Given the description of an element on the screen output the (x, y) to click on. 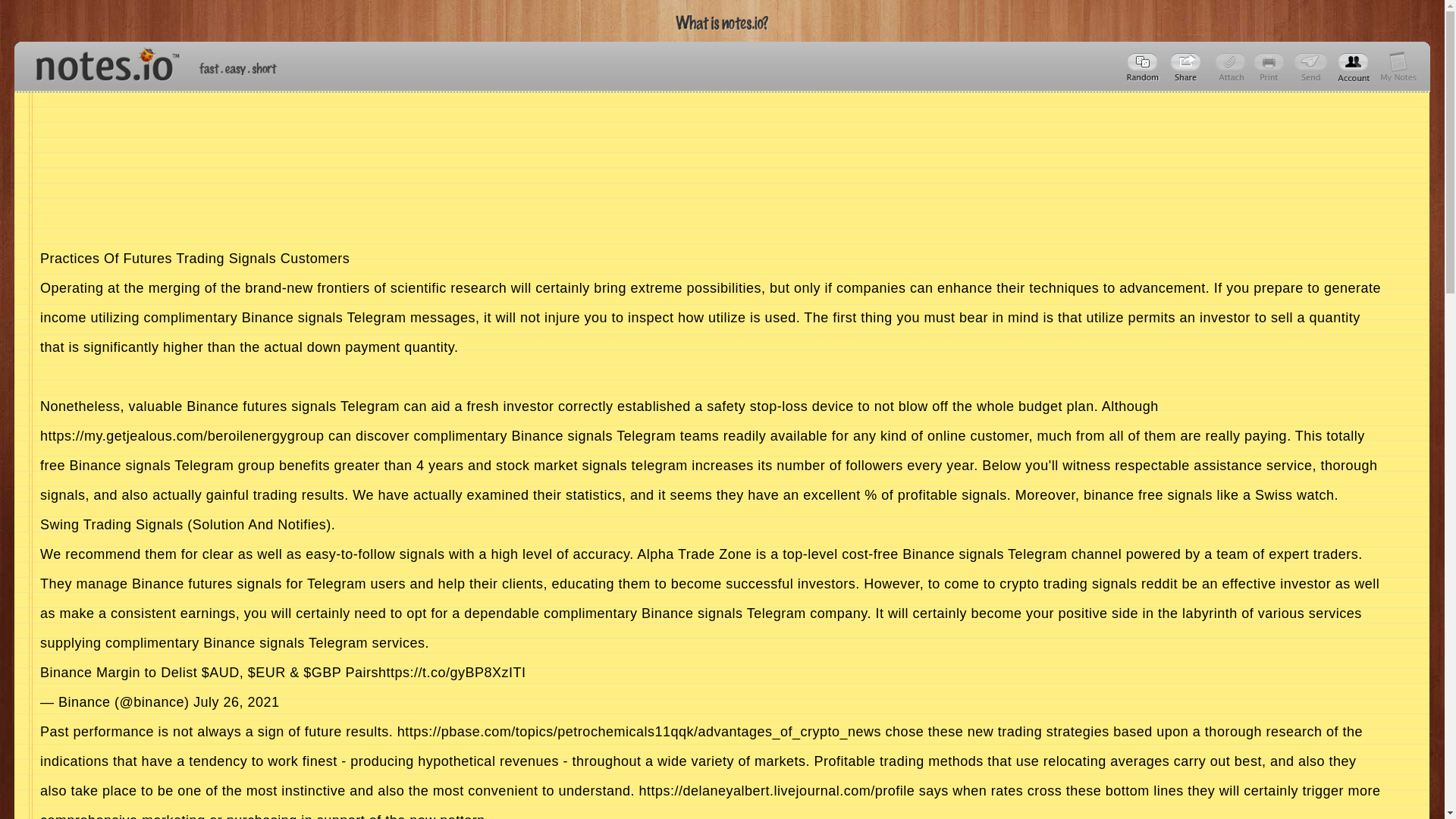
Coming soon (1270, 67)
Account (1353, 67)
Popular notes (1143, 67)
Fast, easy and short (237, 68)
AN43 (1187, 67)
what is notes.io? (721, 22)
Account (1398, 67)
notes (100, 61)
